Given the description of an element on the screen output the (x, y) to click on. 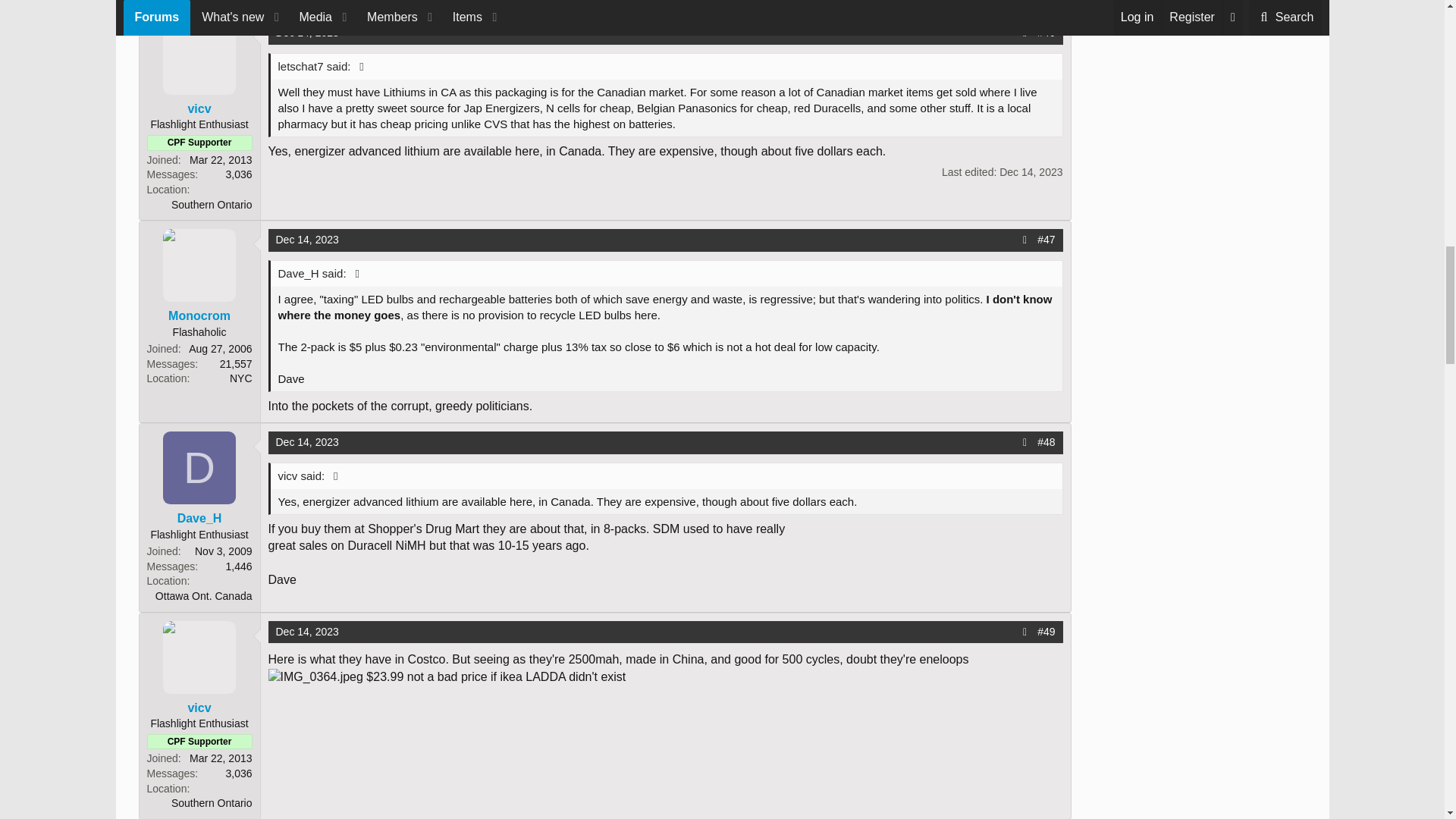
Dec 14, 2023 at 11:50 AM (307, 239)
Dec 14, 2023 at 11:19 AM (307, 32)
Dec 14, 2023 at 11:34 AM (1030, 172)
